Given the description of an element on the screen output the (x, y) to click on. 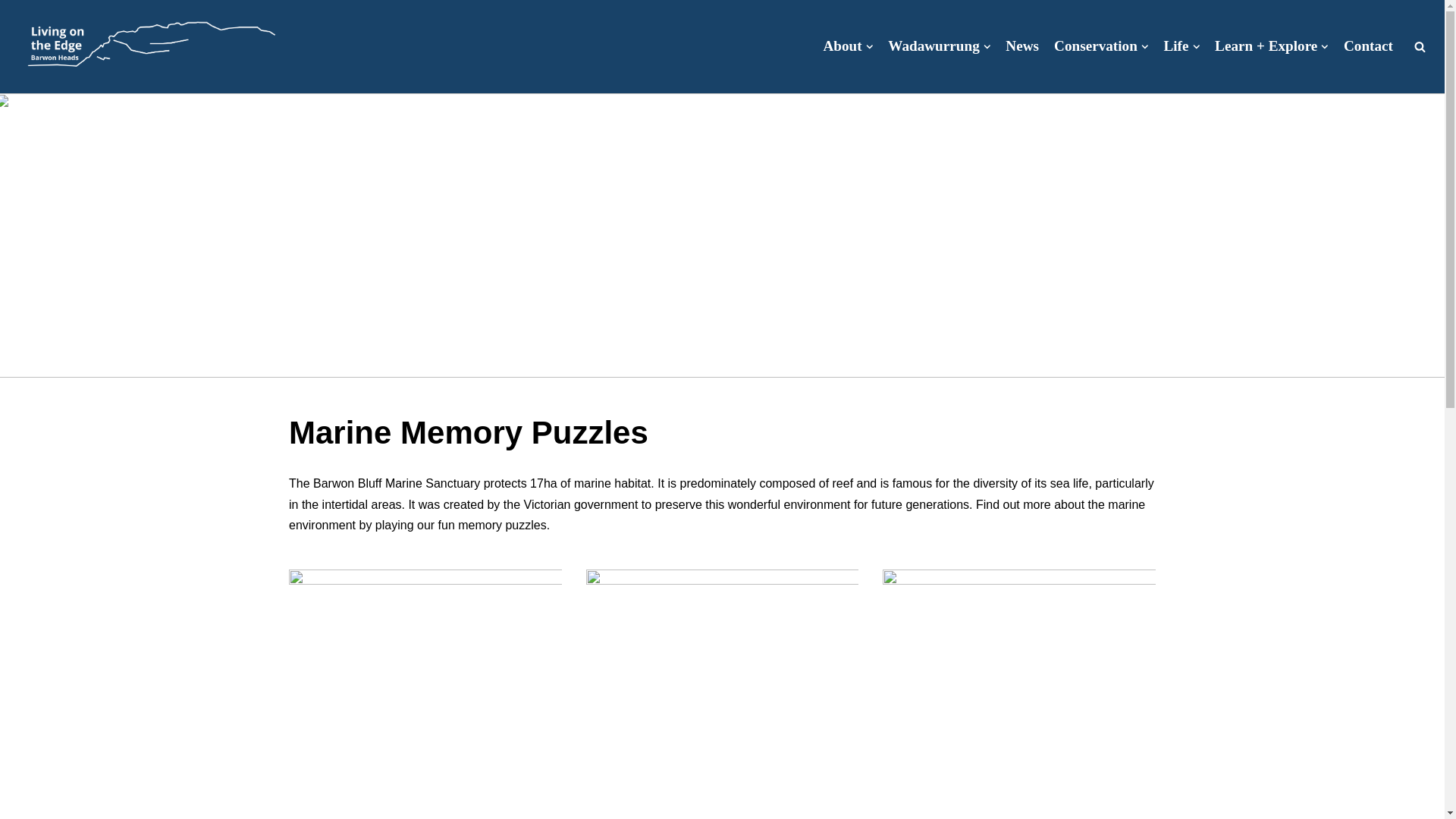
About (848, 46)
News (1022, 46)
Contact (1368, 46)
Barwon Bluff (149, 46)
Skip to content (11, 31)
Life (1181, 46)
Conservation (1101, 46)
Wadawurrung (939, 46)
